Given the description of an element on the screen output the (x, y) to click on. 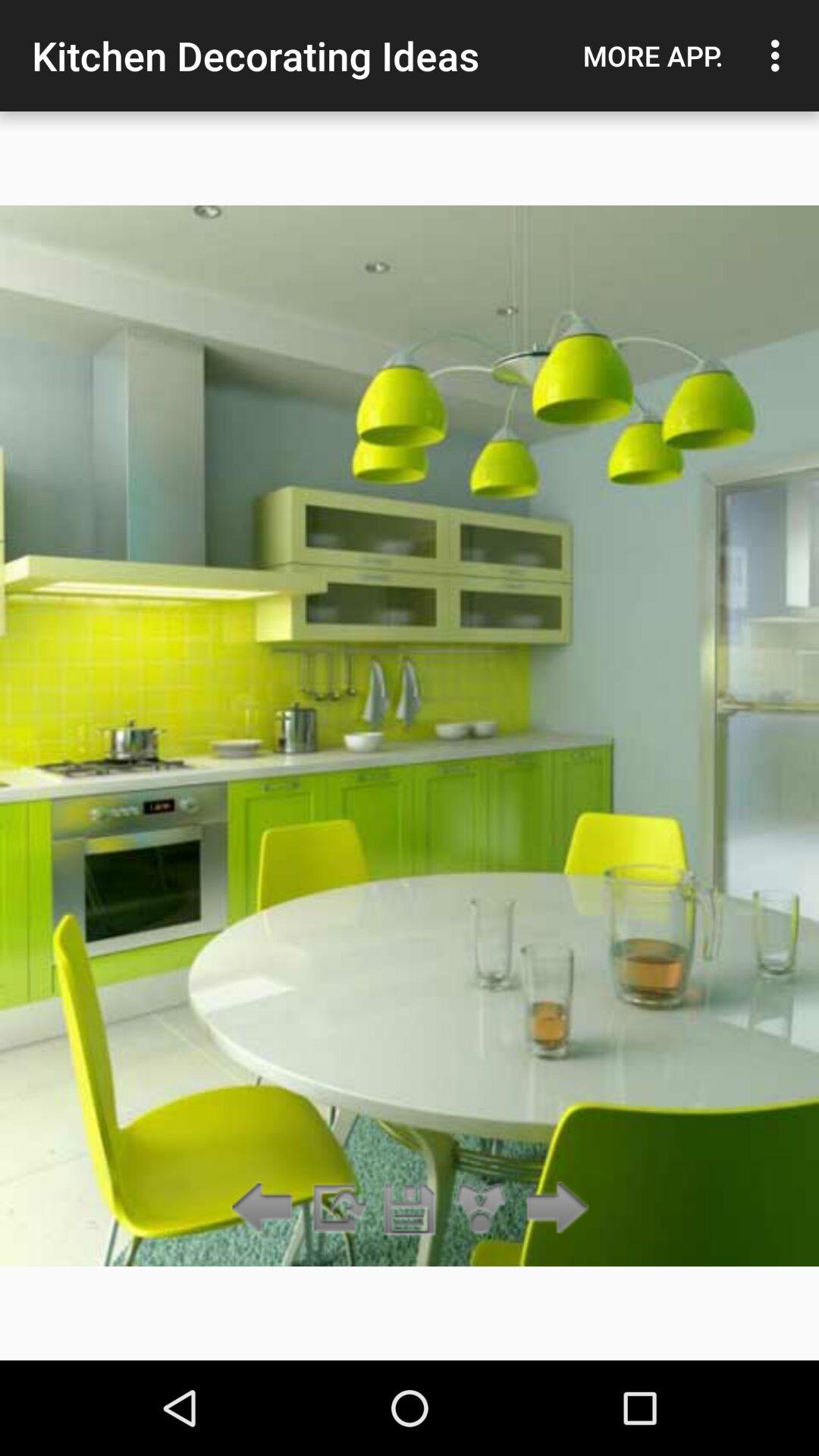
click the item to the right of more app. item (779, 55)
